Given the description of an element on the screen output the (x, y) to click on. 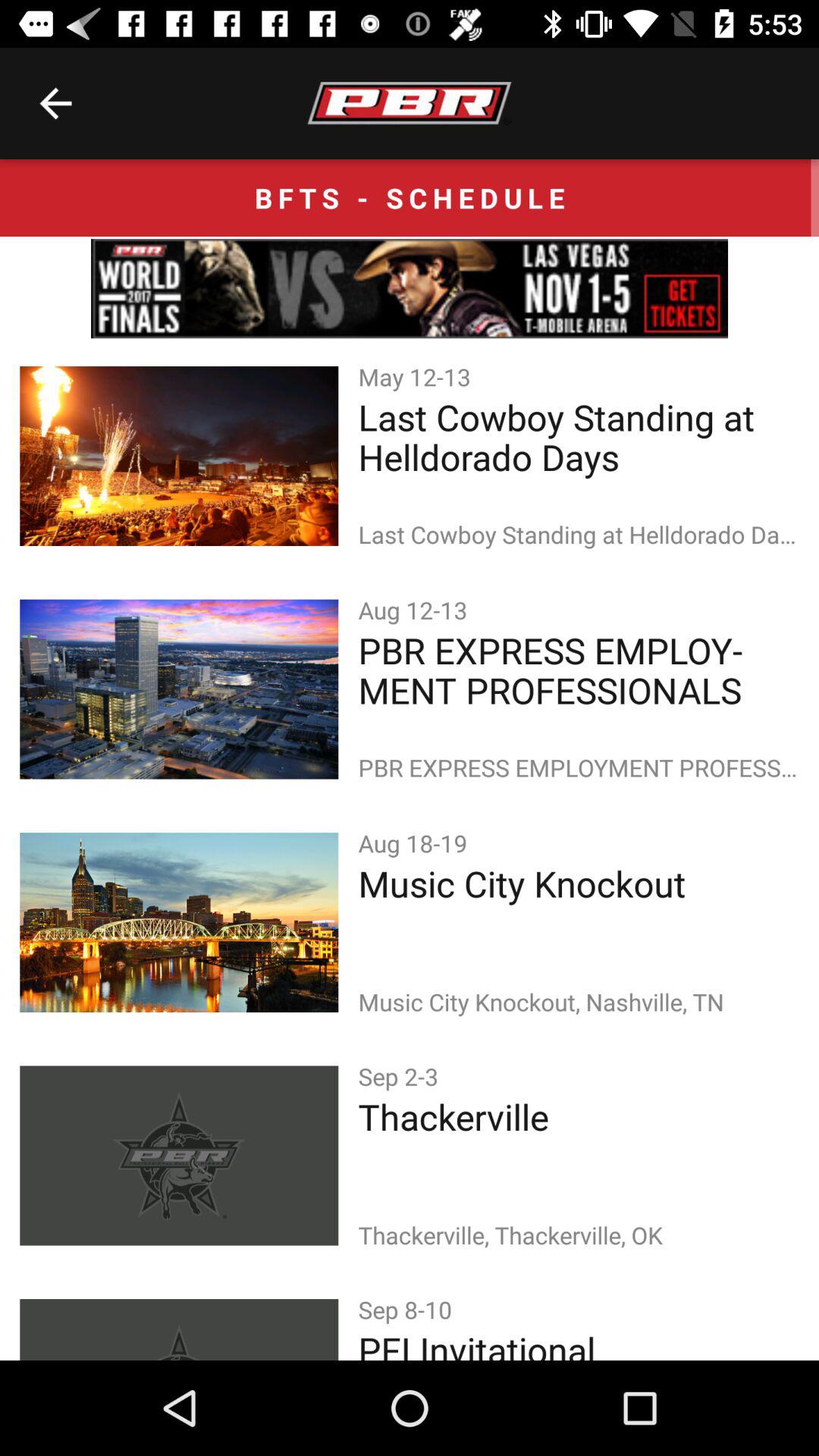
turn off item below the thackerville, thackerville, ok item (408, 1309)
